Given the description of an element on the screen output the (x, y) to click on. 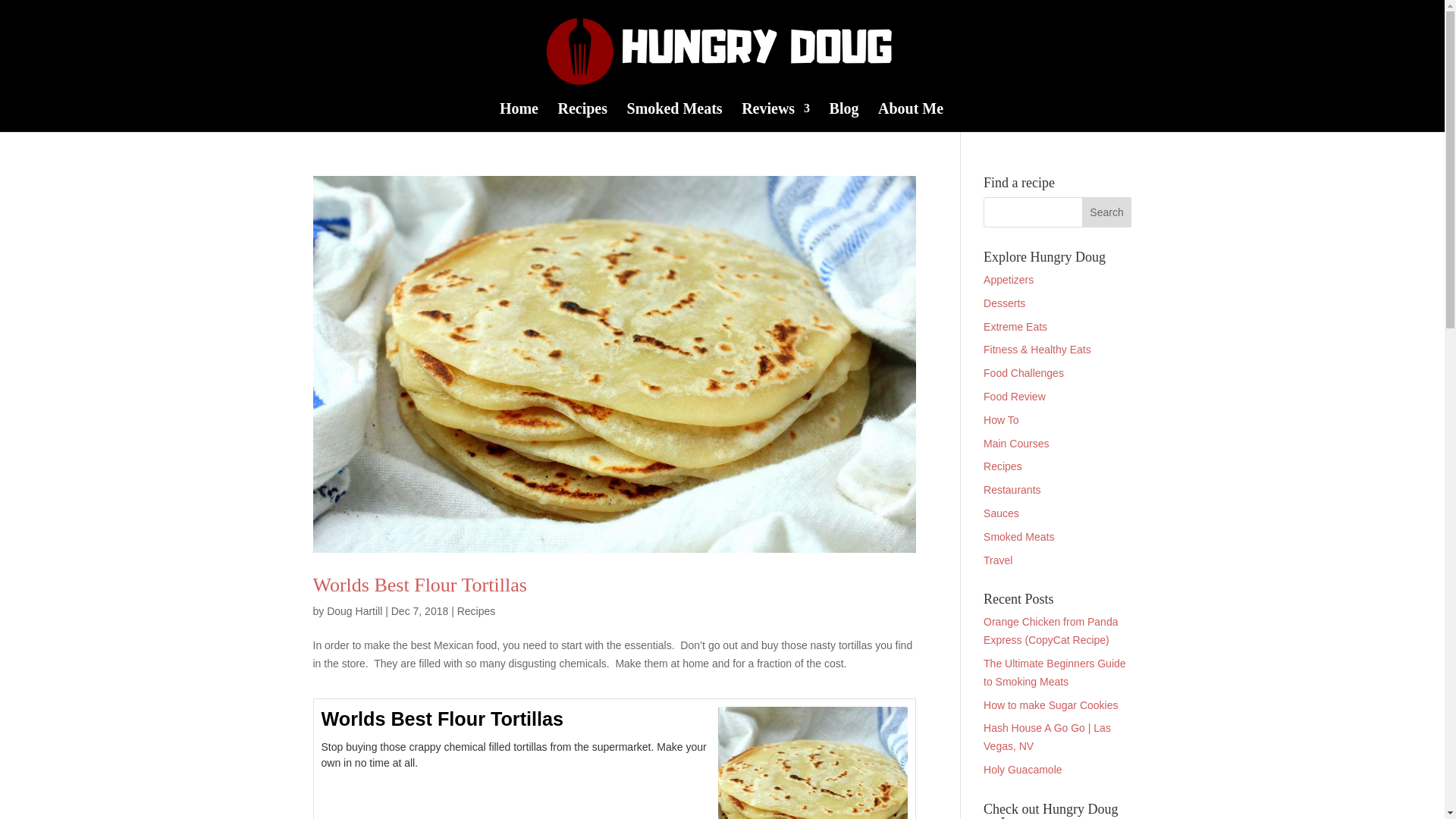
Food Review (1014, 396)
Reviews (775, 117)
Search (1106, 212)
Posts by Doug Hartill (353, 611)
How To (1000, 419)
Smoked Meats (674, 117)
Doug Hartill (353, 611)
Appetizers (1008, 279)
Restaurants (1012, 490)
Search (1106, 212)
Recipes (476, 611)
Desserts (1004, 303)
Travel (997, 560)
Smoked Meats (1019, 536)
Home (518, 117)
